Given the description of an element on the screen output the (x, y) to click on. 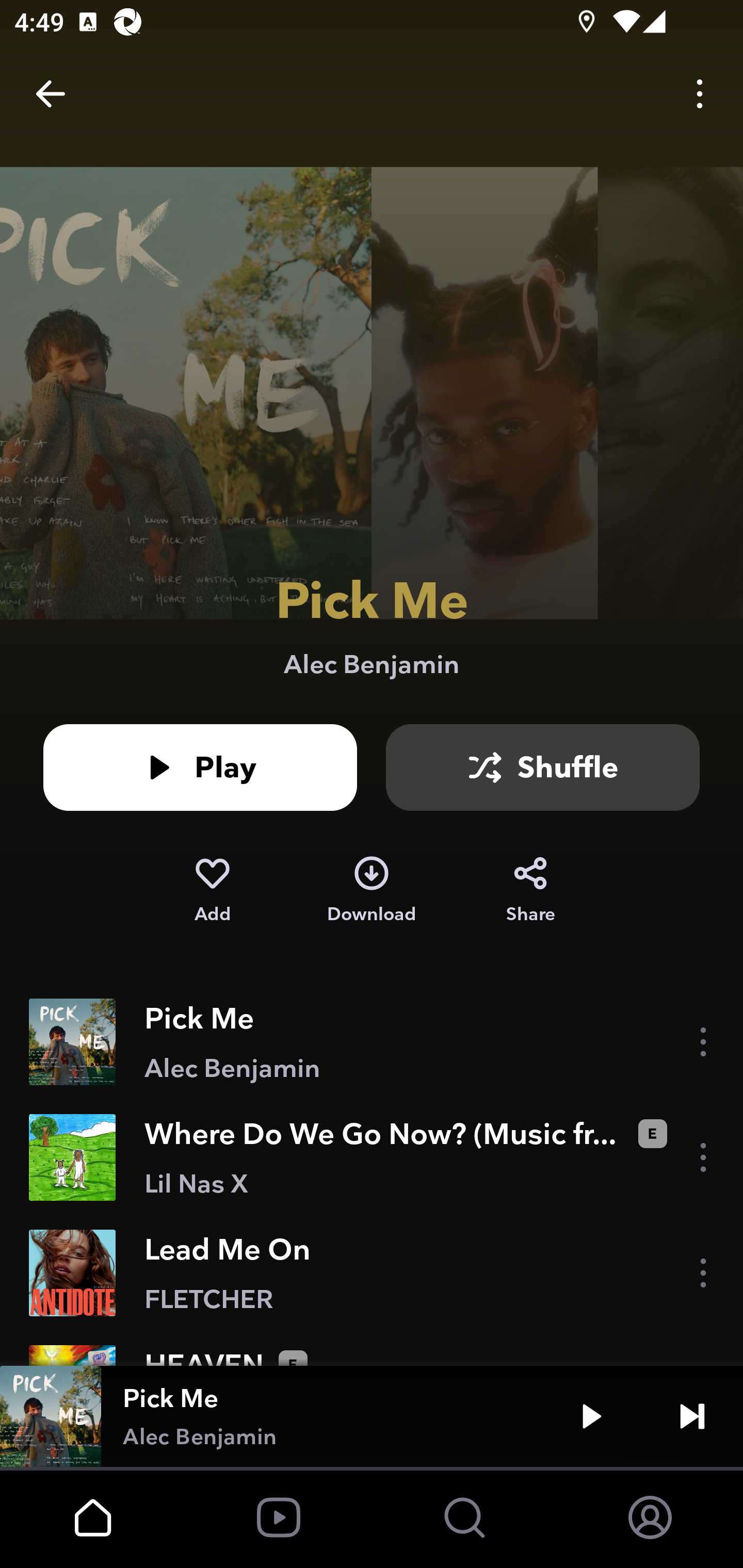
Options (699, 93)
Play (200, 767)
Shuffle (542, 767)
Add (211, 890)
Download (371, 890)
Share (530, 890)
Pick Me Alec Benjamin (371, 1041)
Lead Me On FLETCHER (371, 1273)
Pick Me Alec Benjamin Play (371, 1416)
Play (590, 1416)
